Given the description of an element on the screen output the (x, y) to click on. 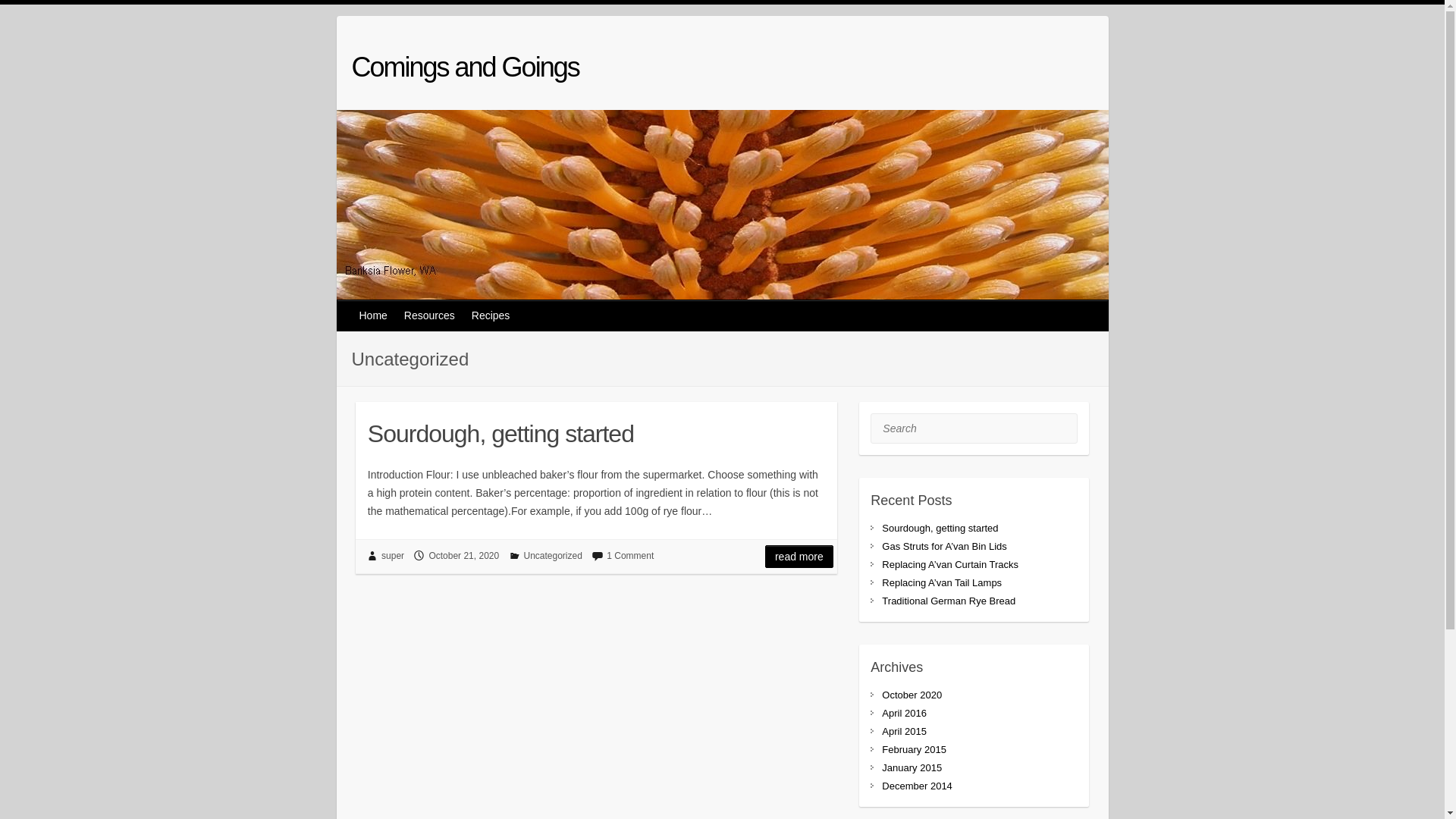
1 Comment Element type: text (629, 555)
April 2016 Element type: text (903, 712)
April 2015 Element type: text (903, 731)
February 2015 Element type: text (913, 749)
Sourdough, getting started Element type: text (939, 527)
Traditional German Rye Bread Element type: text (948, 600)
October 2020 Element type: text (911, 694)
Uncategorized Element type: text (552, 555)
January 2015 Element type: text (911, 767)
Resources Element type: text (430, 315)
Sourdough, getting started Element type: text (596, 430)
read more Element type: text (799, 556)
October 21, 2020 Element type: text (463, 555)
December 2014 Element type: text (916, 785)
Home Element type: text (373, 315)
Comings and Goings Element type: text (465, 67)
super Element type: text (392, 555)
Recipes Element type: text (491, 315)
